Given the description of an element on the screen output the (x, y) to click on. 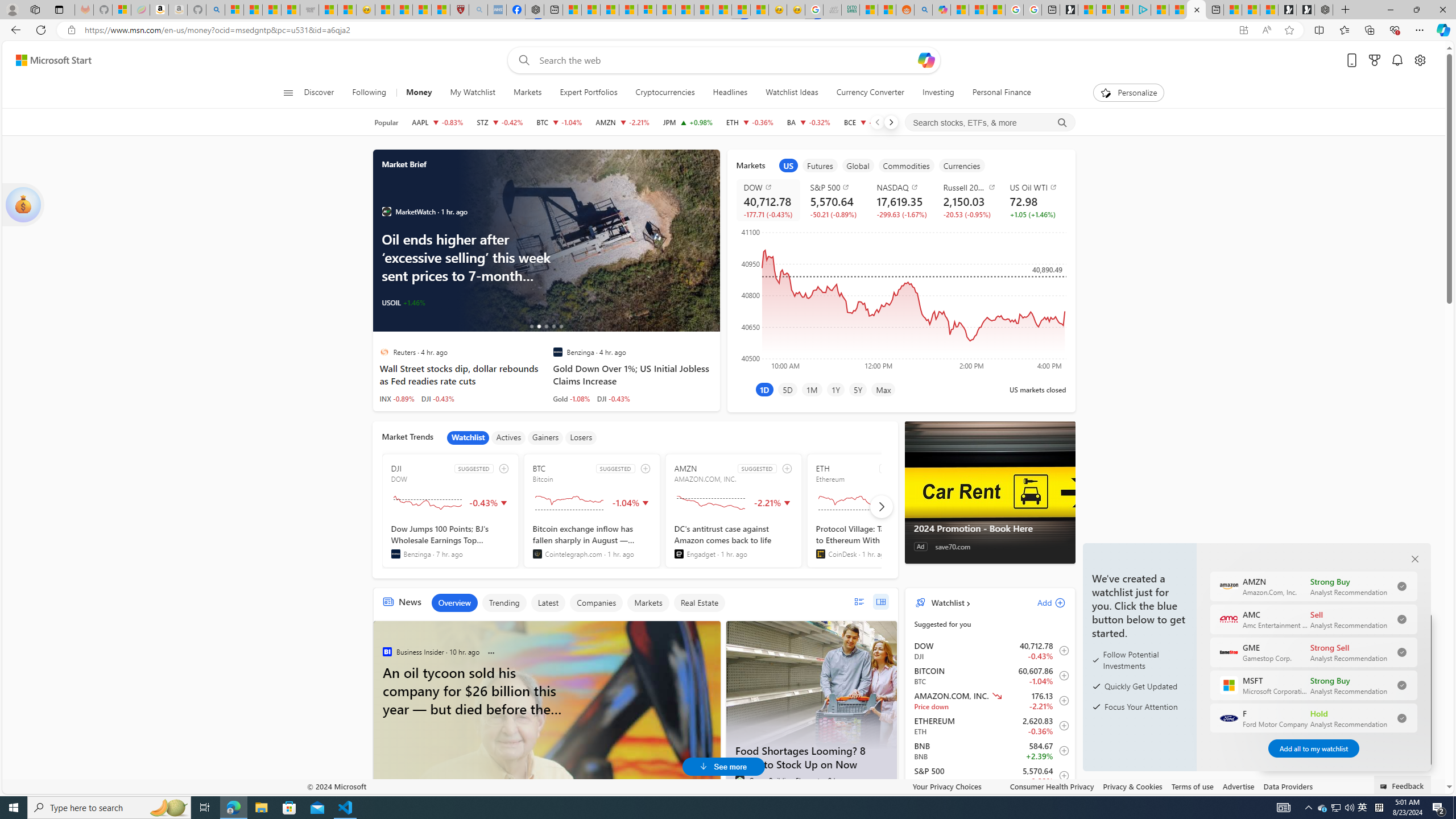
US Oil WTI USOIL increase 72.98 +1.05 +1.46% (1033, 200)
item1 (787, 164)
Watchlist Ideas (792, 92)
BTC Bitcoin decrease 60,607.86 -629.74 -1.04% (559, 122)
Enter your search term (726, 59)
ETH Ethereum decrease 2,620.83 -9.43 -0.36% (749, 122)
STZ CONSTELLATION BRANDS, INC. decrease 243.70 -1.04 -0.42% (499, 122)
